Given the description of an element on the screen output the (x, y) to click on. 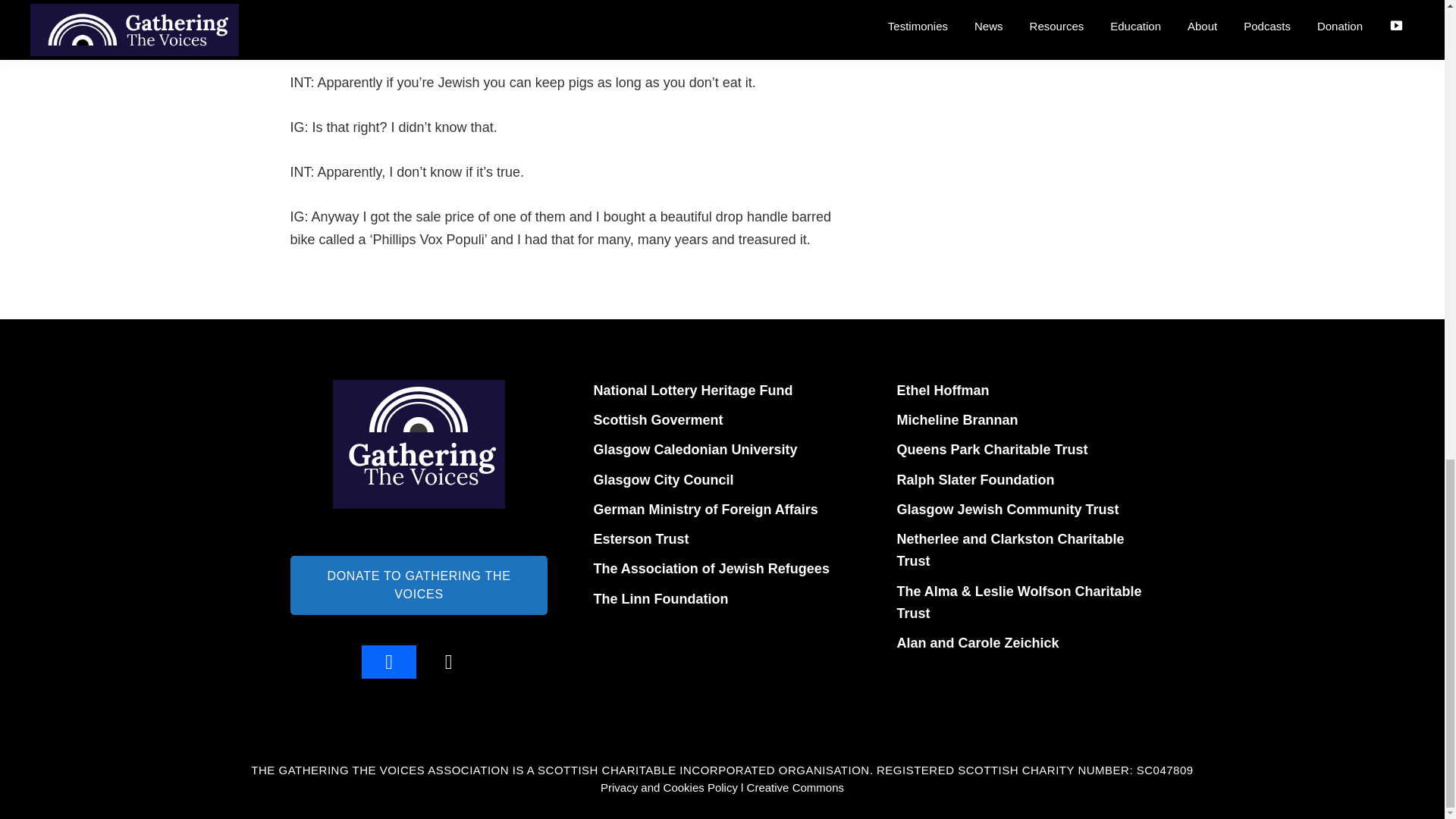
X (448, 661)
Facebook (389, 661)
